Given the description of an element on the screen output the (x, y) to click on. 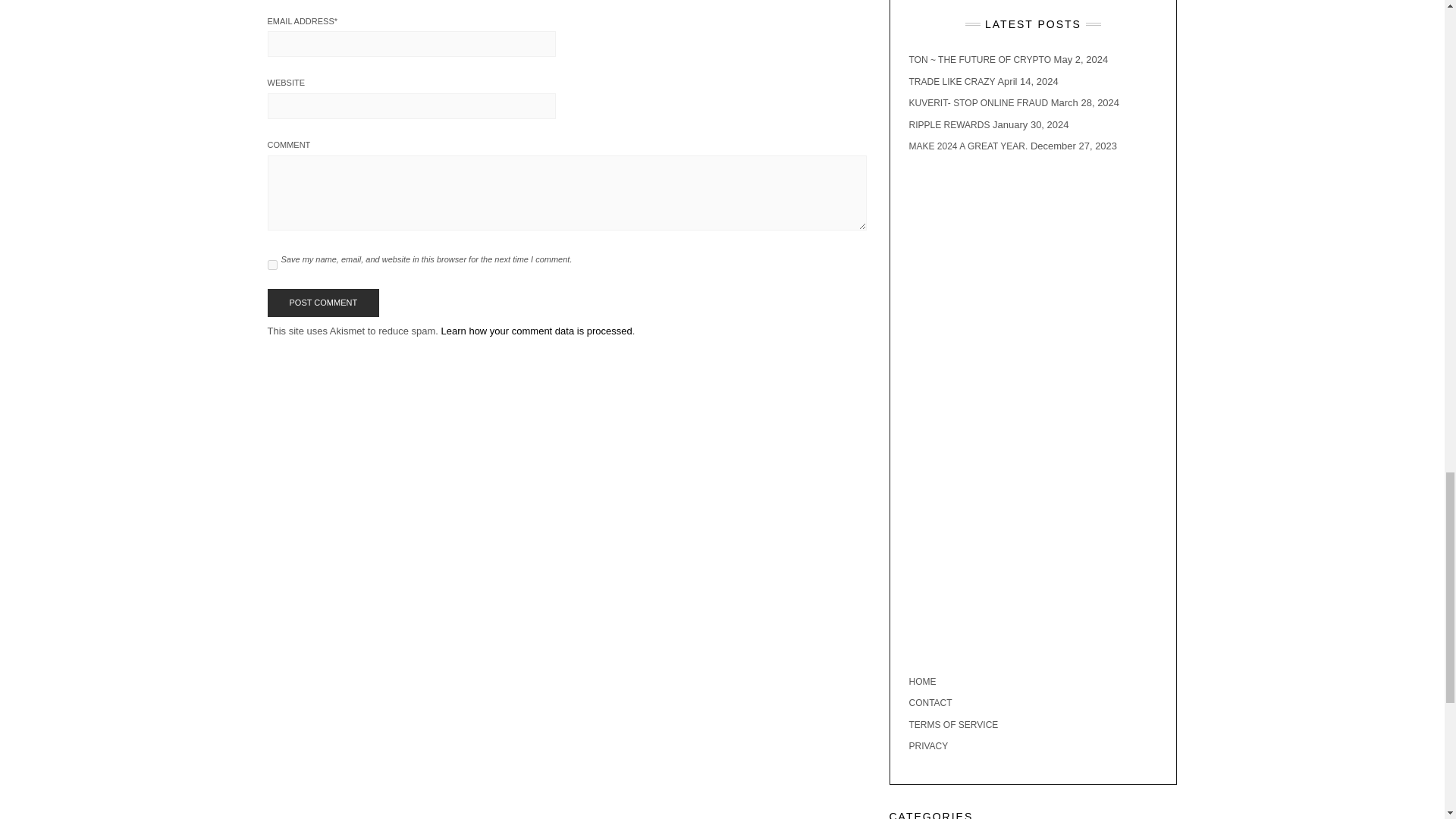
MAKE 2024 A GREAT YEAR. (967, 145)
TRADE LIKE CRAZY (951, 81)
yes (271, 265)
Learn how your comment data is processed (536, 330)
RIPPLE REWARDS (949, 124)
KUVERIT- STOP ONLINE FRAUD (978, 102)
CONTACT (930, 702)
TERMS OF SERVICE (952, 724)
Post Comment (322, 303)
HOME (922, 681)
Post Comment (322, 303)
